Given the description of an element on the screen output the (x, y) to click on. 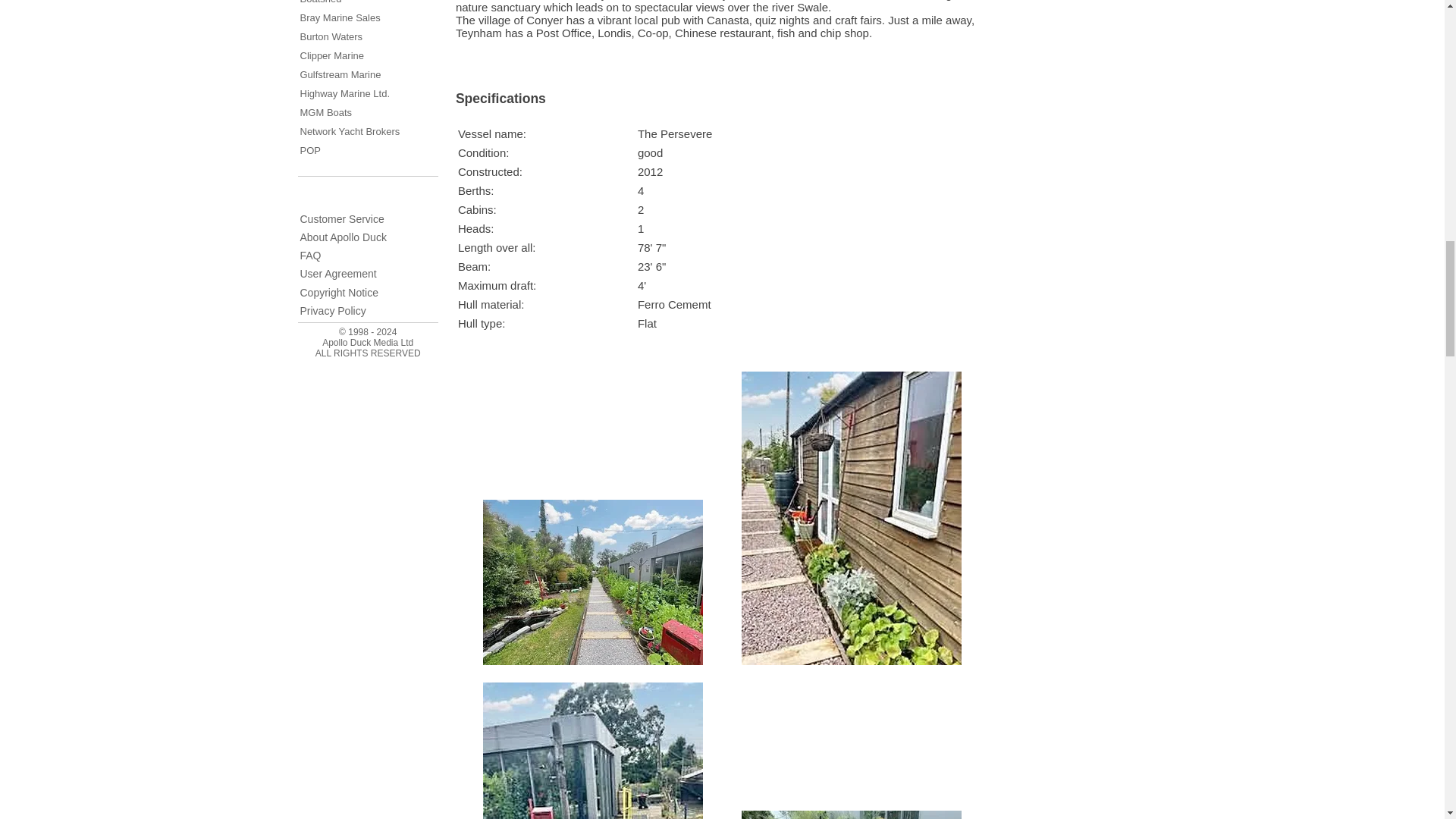
Bray Marine Sales, UK (339, 17)
POP, USA (309, 150)
Burton Waters, UK (330, 36)
Boatshed, UK (320, 2)
MGM Boats, Ireland (325, 112)
Gulfstream Marine, UK (340, 74)
Highway Marine Ltd., UK (344, 93)
Network Yacht Brokers, UK (349, 131)
Clipper Marine, UK (332, 55)
